Given the description of an element on the screen output the (x, y) to click on. 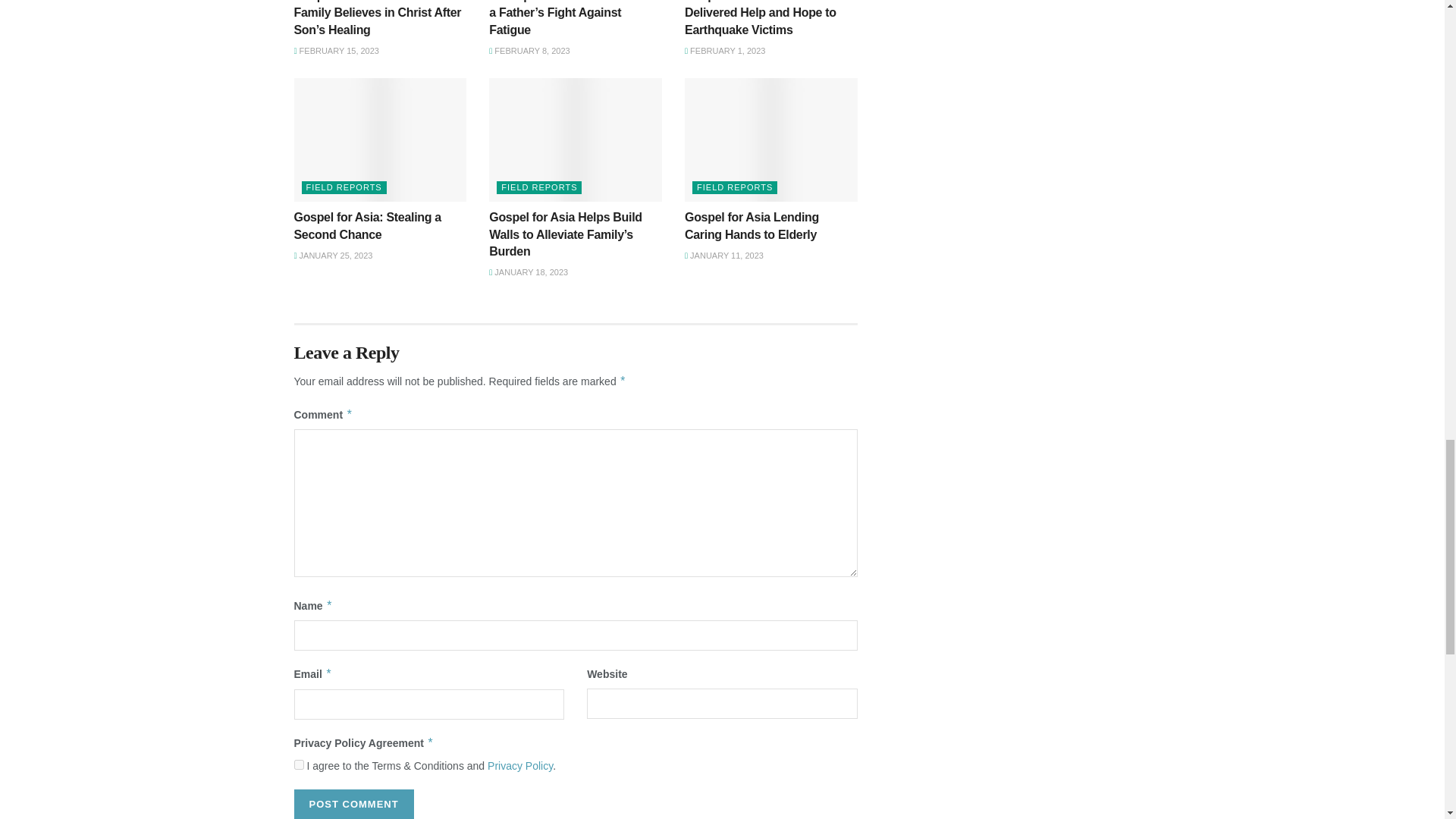
Post Comment (353, 804)
on (299, 764)
